Given the description of an element on the screen output the (x, y) to click on. 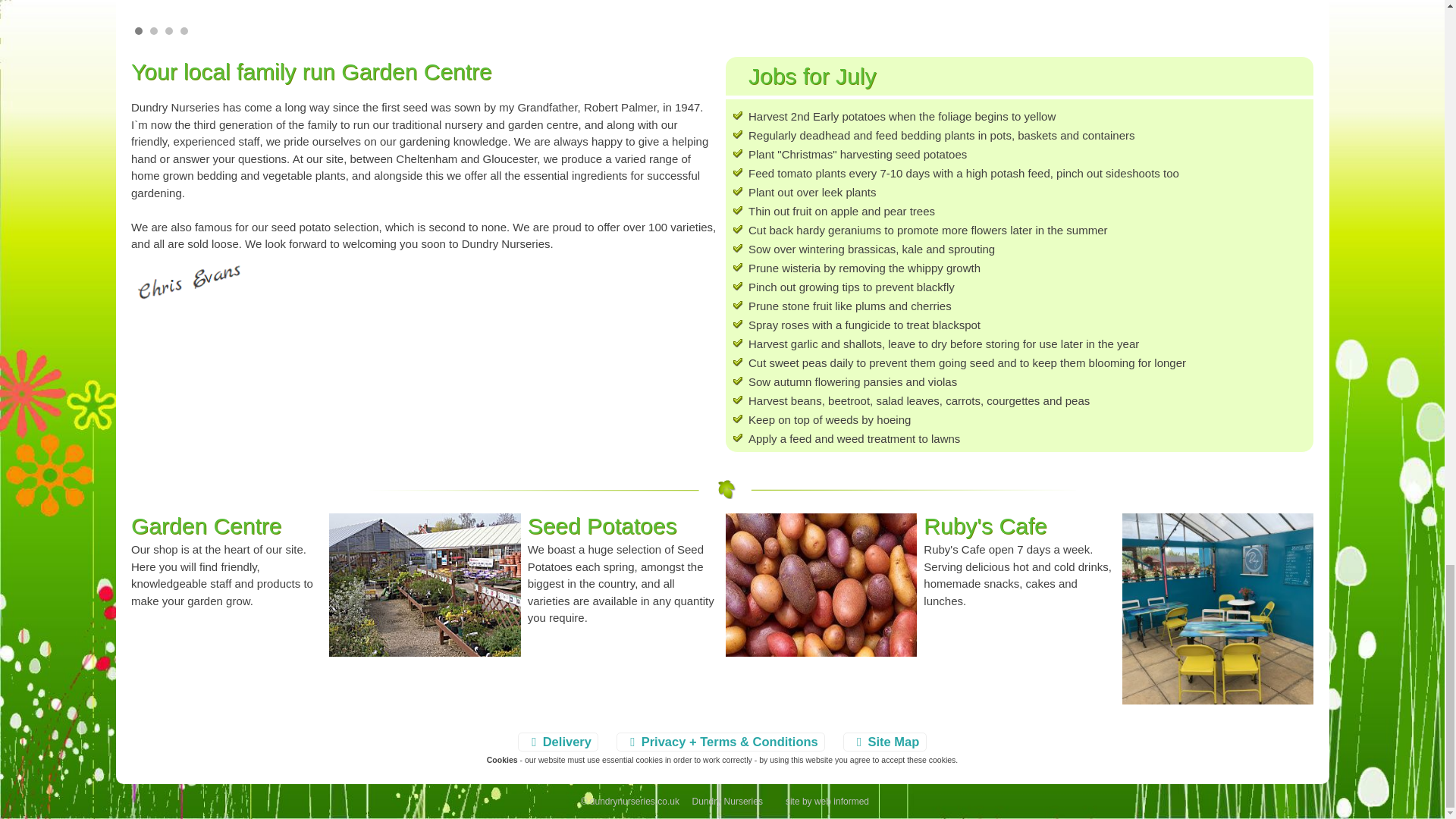
4 (183, 31)
web informed (841, 801)
Delivery (558, 741)
Start (1294, 29)
2 (153, 31)
1 (138, 31)
Site Map (884, 741)
3 (169, 31)
